Given the description of an element on the screen output the (x, y) to click on. 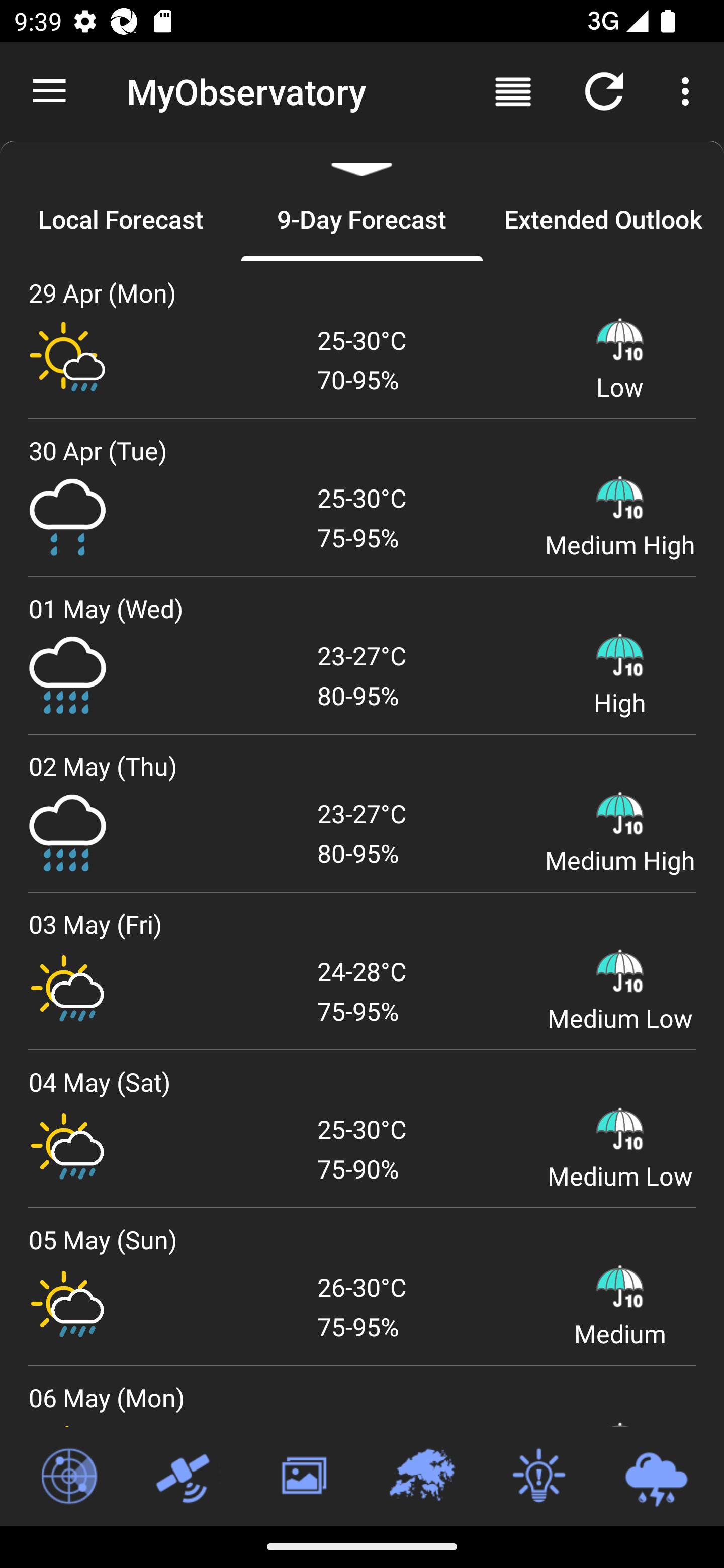
Navigate up (49, 91)
Vertical layout (512, 90)
Refresh (604, 90)
More options (688, 90)
Collapse (362, 159)
Local Forecast (120, 219)
Extended Outlook (603, 219)
Radar Images (68, 1476)
Satellite Images (185, 1476)
Weather Photos (302, 1476)
Regional Weather (420, 1476)
Weather Tips (537, 1476)
Loc-based Rain & Lightning Forecast (655, 1476)
